Given the description of an element on the screen output the (x, y) to click on. 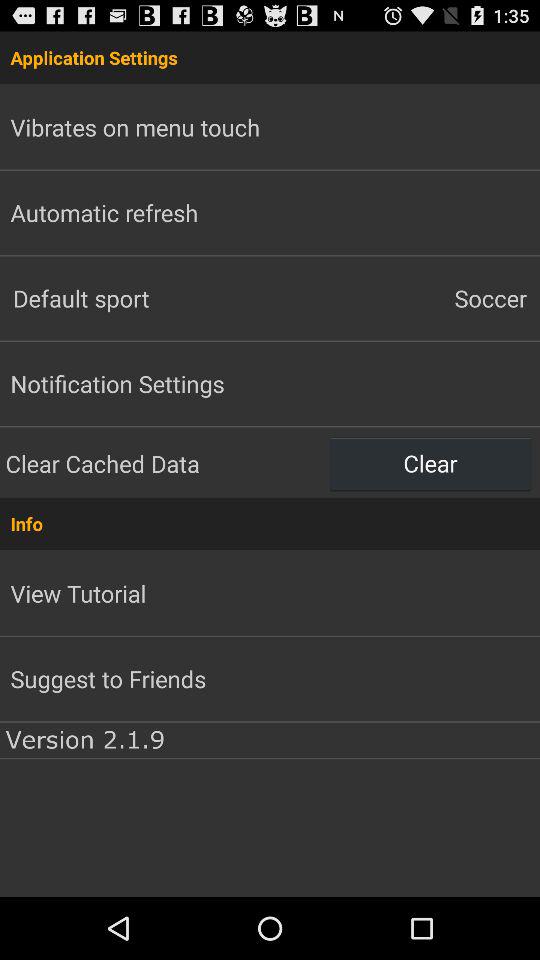
click default sport item (135, 298)
